Given the description of an element on the screen output the (x, y) to click on. 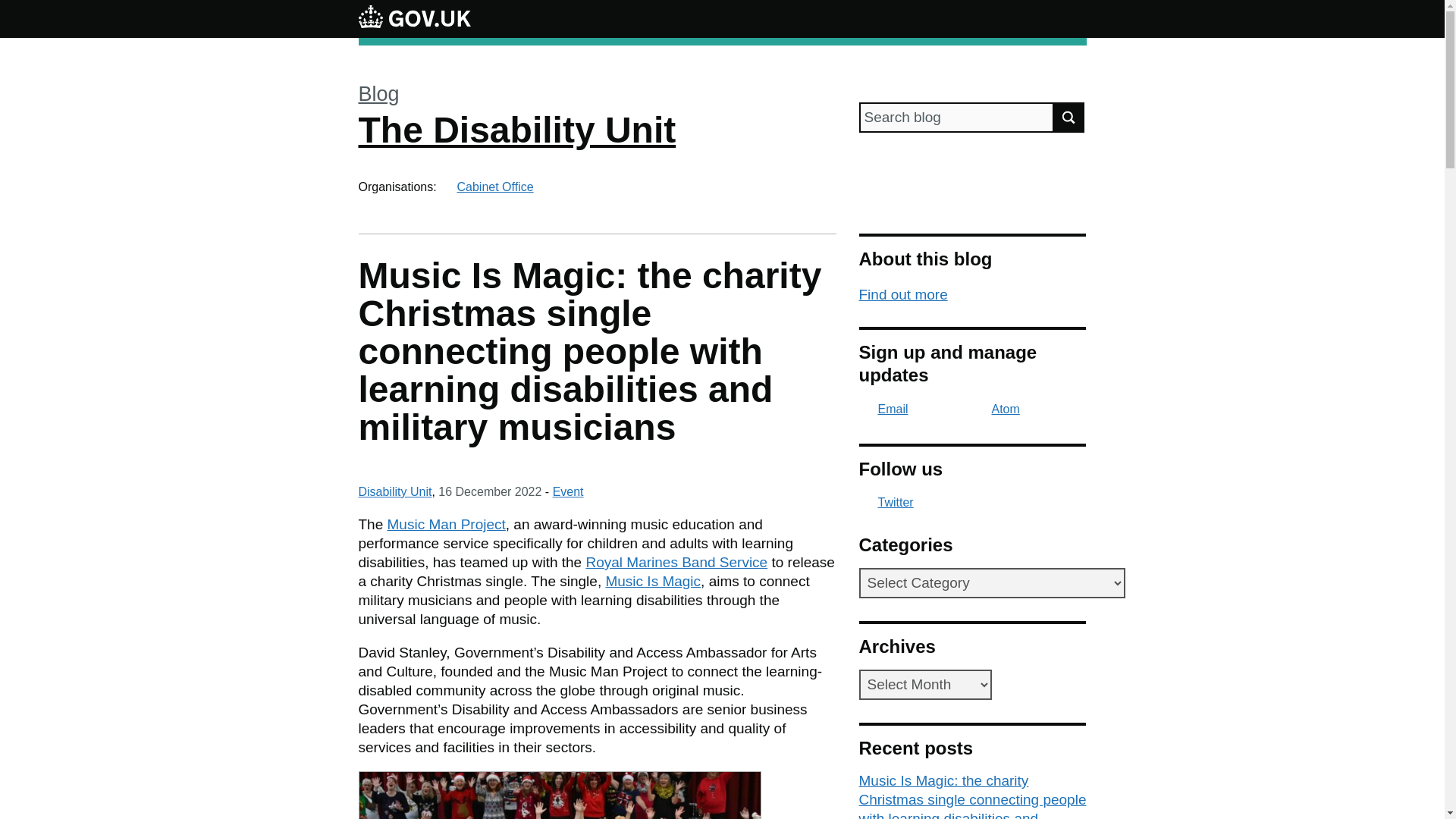
GOV.UK (414, 15)
Music Man Project (446, 524)
Email (883, 408)
Cabinet Office (494, 186)
Posts by Disability Unit (394, 491)
The Disability Unit (516, 129)
Find out more (903, 294)
Go to the GOV.UK homepage (414, 18)
Search (1069, 117)
Blog (378, 93)
Twitter (972, 502)
Atom (995, 408)
GOV.UK (414, 18)
Royal Marines Band Service (676, 562)
